Given the description of an element on the screen output the (x, y) to click on. 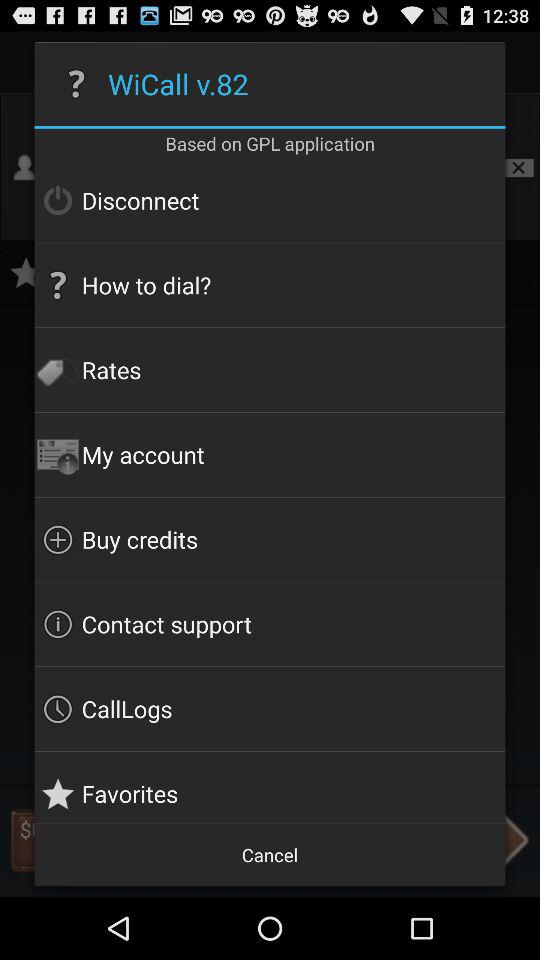
press app above how to dial? app (269, 200)
